Given the description of an element on the screen output the (x, y) to click on. 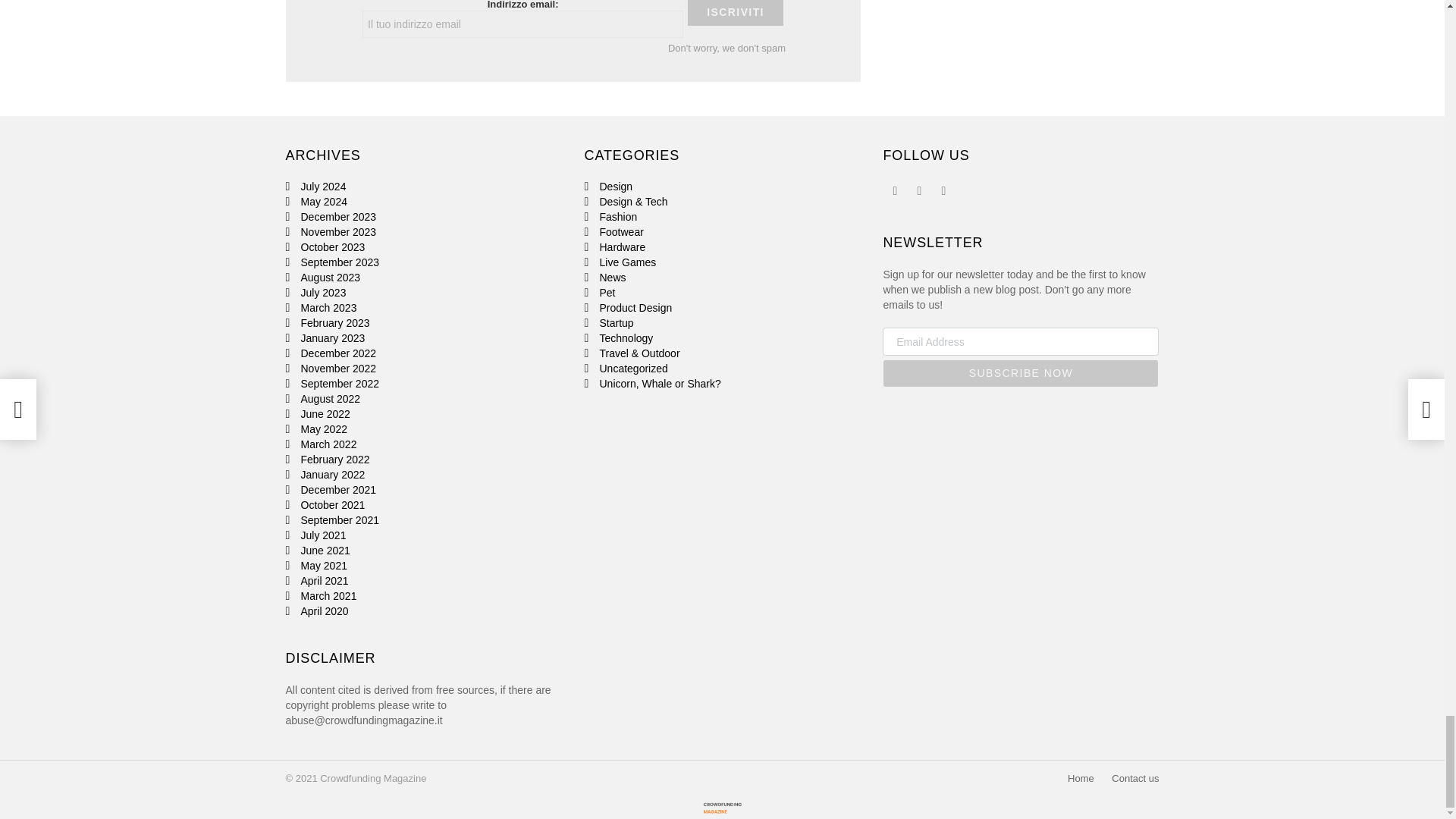
SUBSCRIBE NOW (1020, 373)
Iscriviti (735, 12)
